Given the description of an element on the screen output the (x, y) to click on. 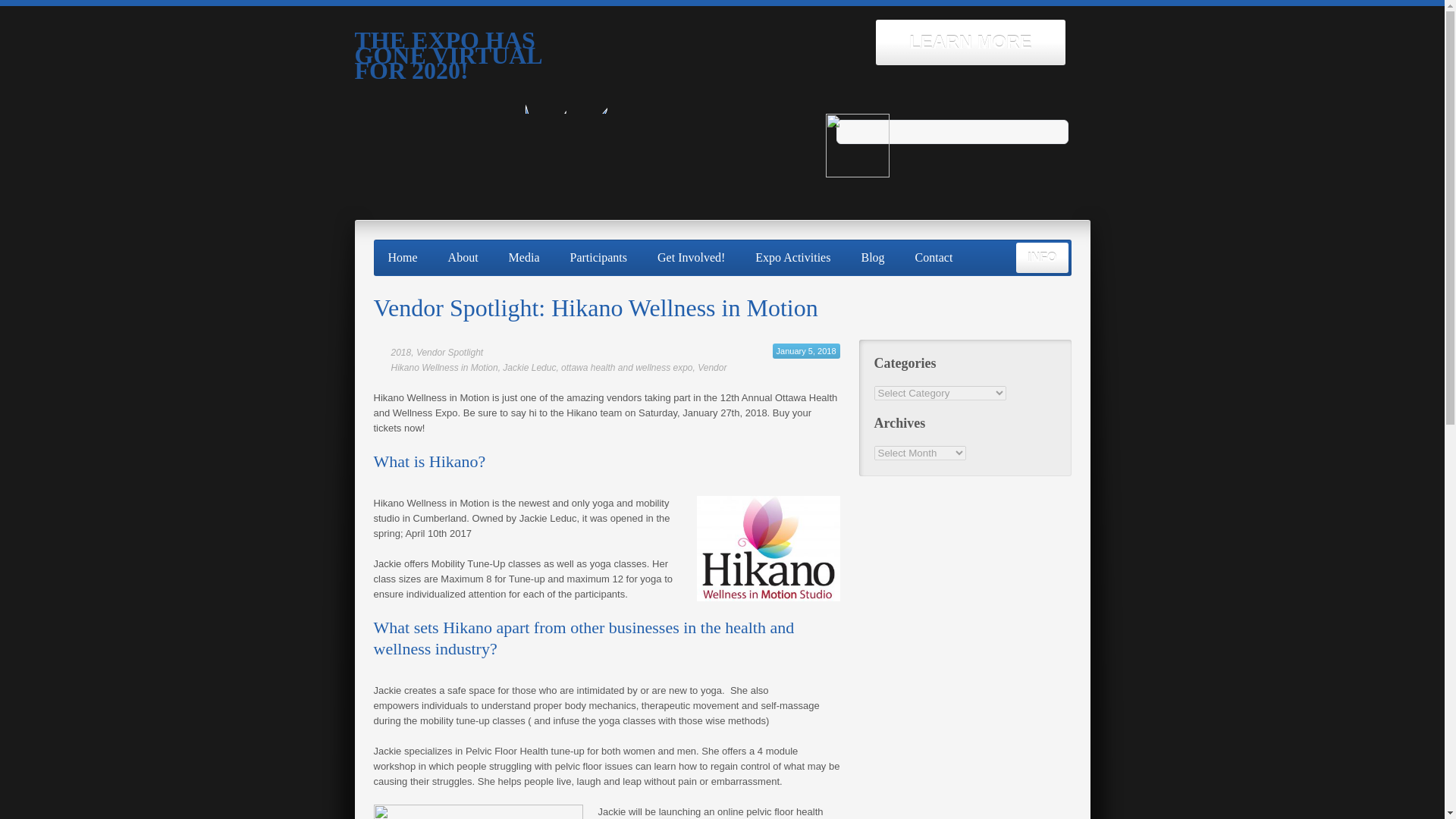
LEARN MORE (970, 42)
Contact (933, 257)
INFO (1041, 257)
Blog (871, 257)
Home (401, 257)
Media (524, 257)
Expo Activities (792, 257)
About (462, 257)
Participants (598, 257)
Get Involved! (691, 257)
